Given the description of an element on the screen output the (x, y) to click on. 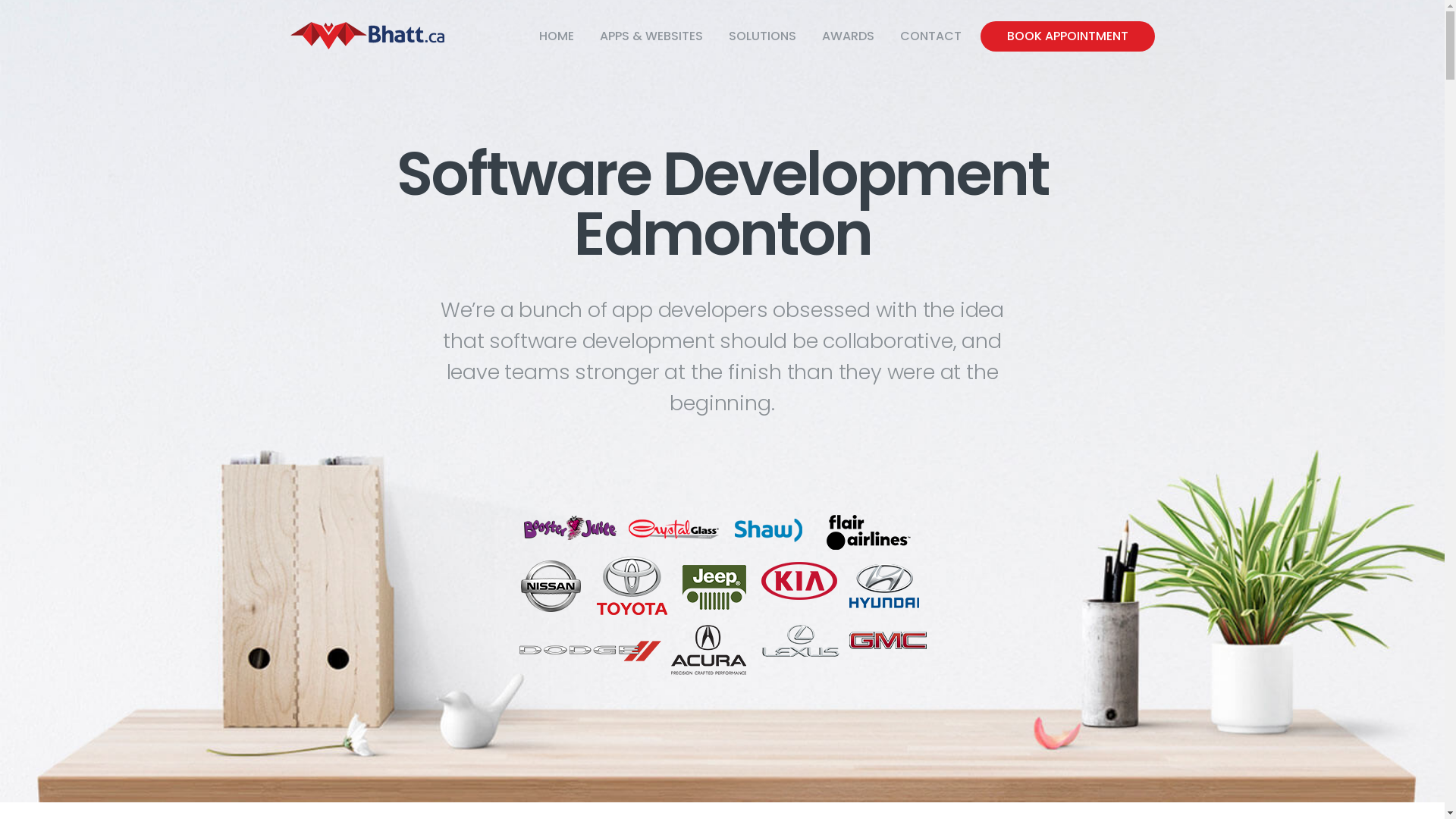
APPS & WEBSITES Element type: text (650, 36)
SOLUTIONS Element type: text (762, 36)
HOME Element type: text (556, 36)
BOOK APPOINTMENT Element type: text (1066, 36)
AWARDS Element type: text (847, 36)
CONTACT Element type: text (930, 36)
